Given the description of an element on the screen output the (x, y) to click on. 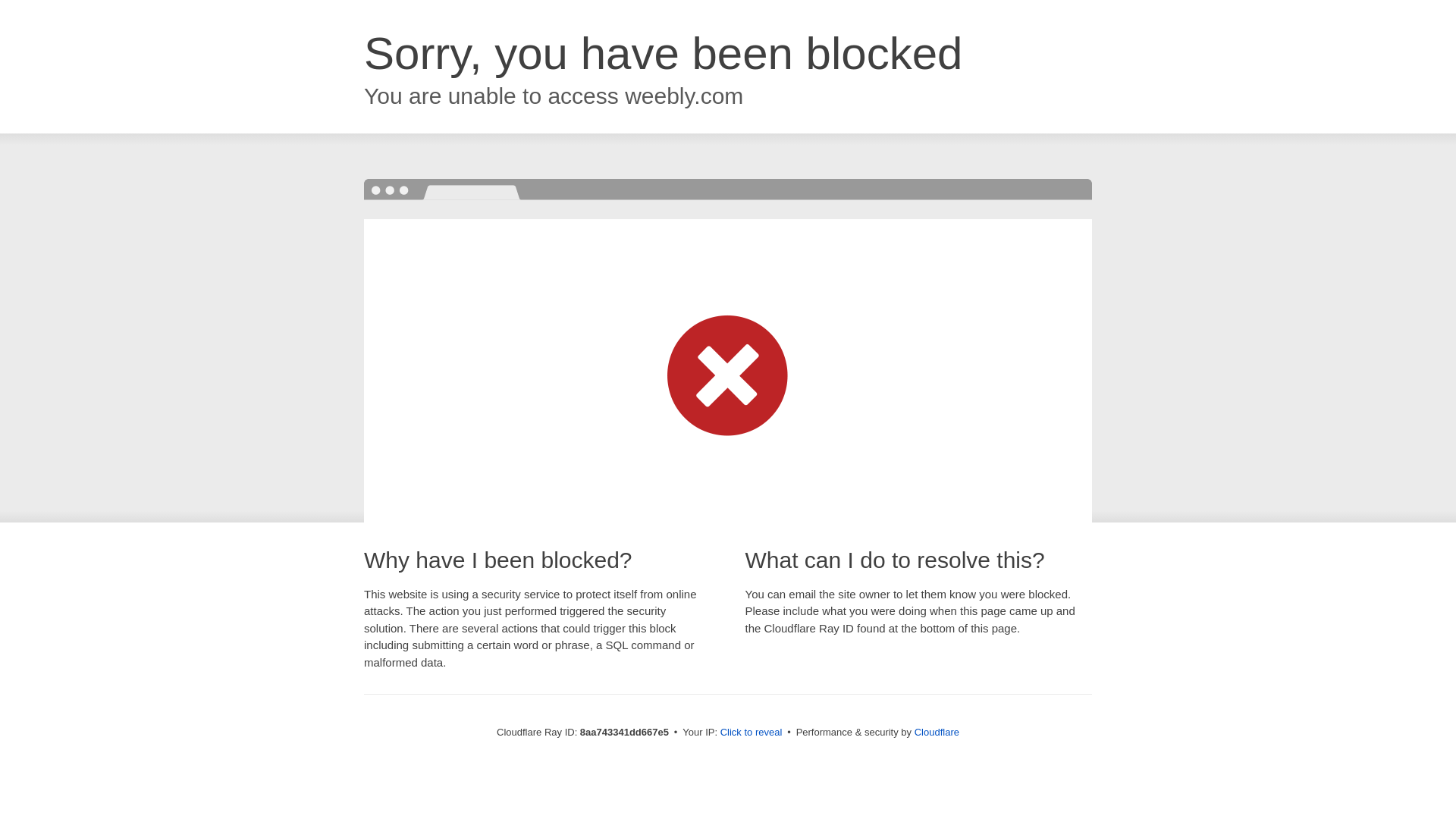
Cloudflare (936, 731)
Click to reveal (751, 732)
